Given the description of an element on the screen output the (x, y) to click on. 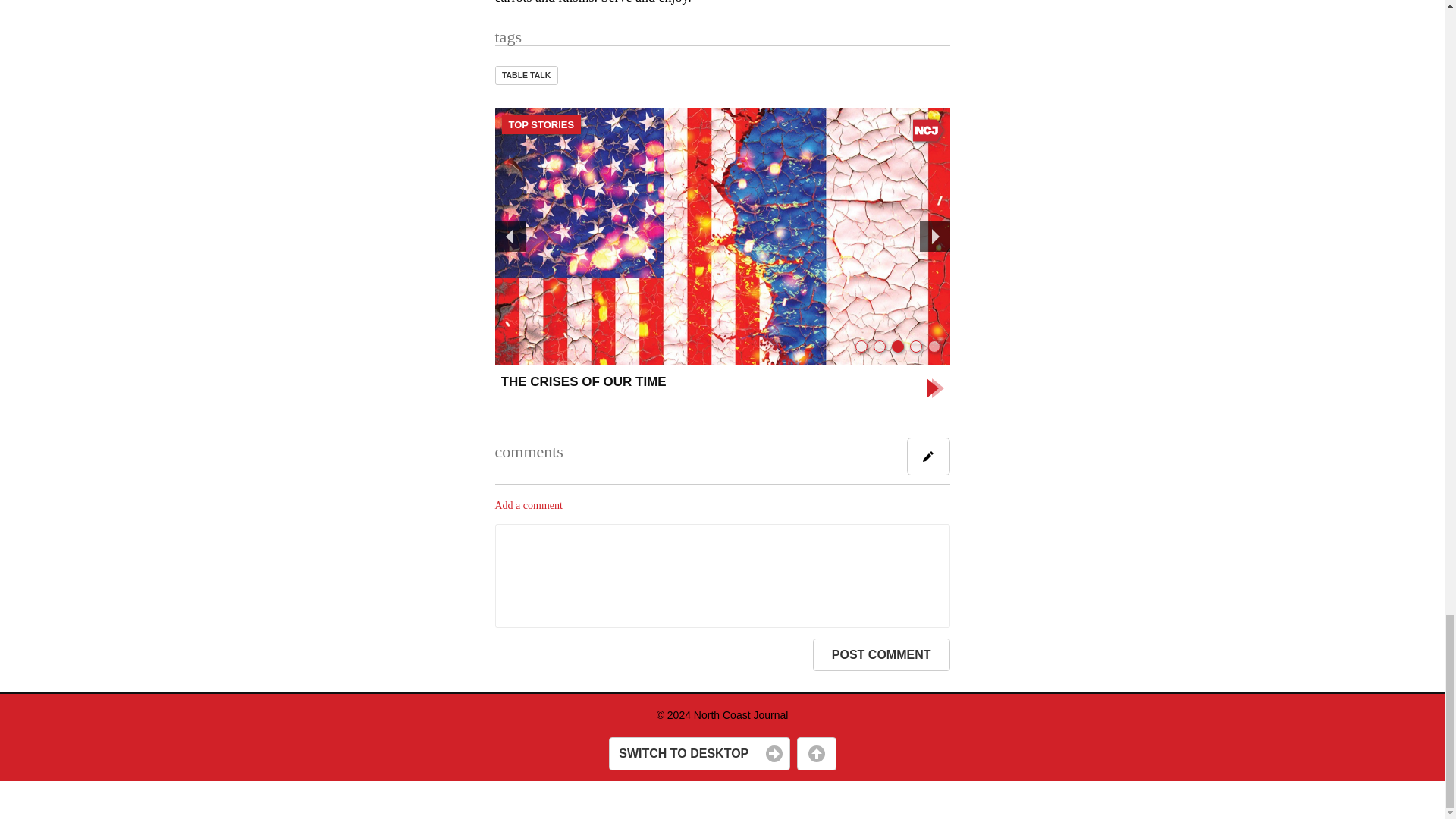
SWITCH TO DESKTOP (698, 753)
THE CRISES OF OUR TIME (721, 388)
ADD A COMMENT (928, 456)
Post Comment (881, 654)
BACK TO TOP (815, 753)
Add a comment (528, 505)
Post Comment (881, 654)
TABLE TALK (526, 75)
